Given the description of an element on the screen output the (x, y) to click on. 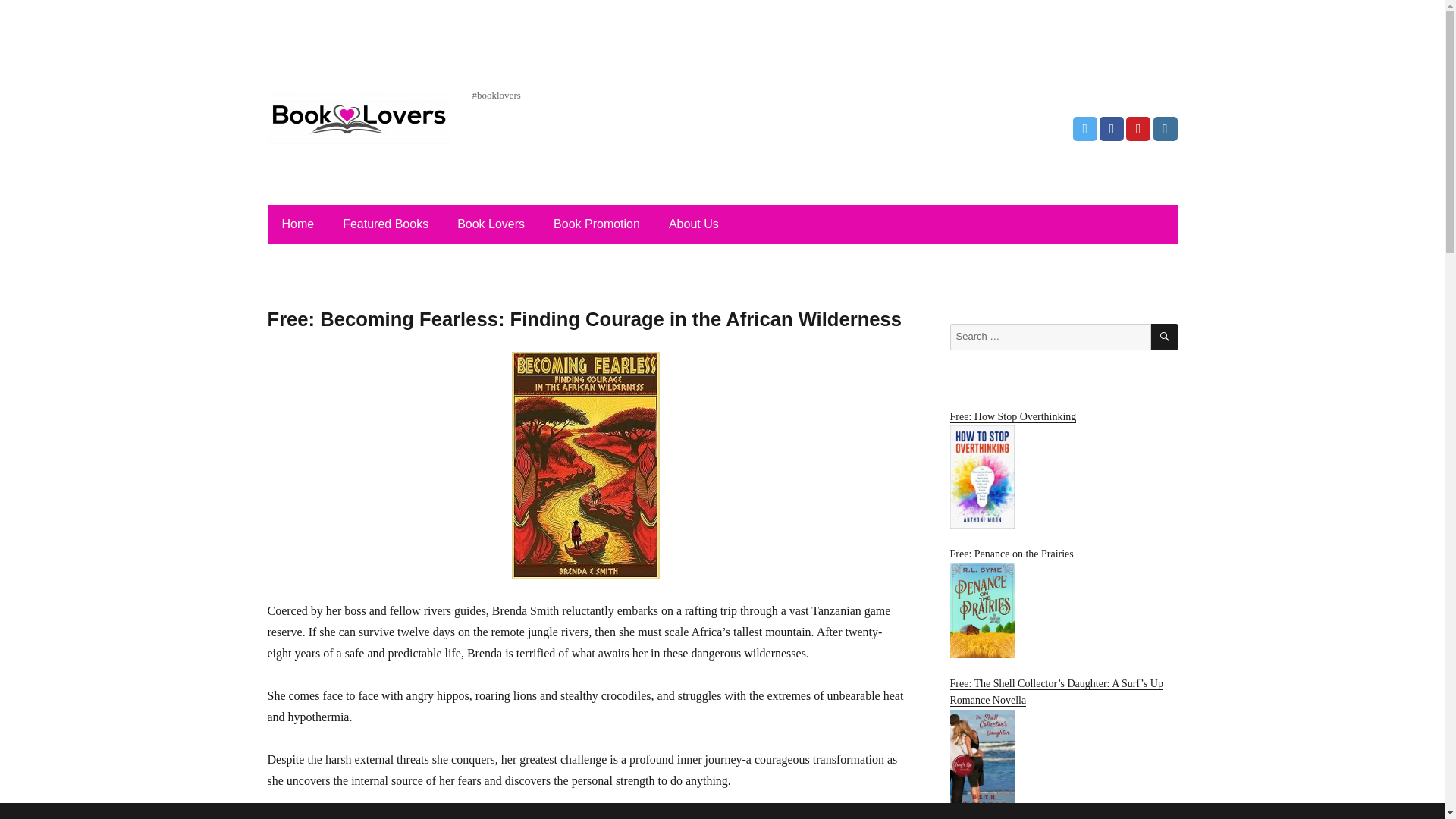
Instagram (1164, 128)
Home (297, 224)
Featured Books (385, 224)
Free: Penance on the Prairies (1062, 602)
Twitter (1085, 128)
About Us (693, 224)
Free: How Stop Overthinking (1062, 469)
Pinterest (1137, 128)
Book Lovers (490, 224)
Book Promotion (596, 224)
SEARCH (1164, 336)
Facebook (1111, 128)
